Given the description of an element on the screen output the (x, y) to click on. 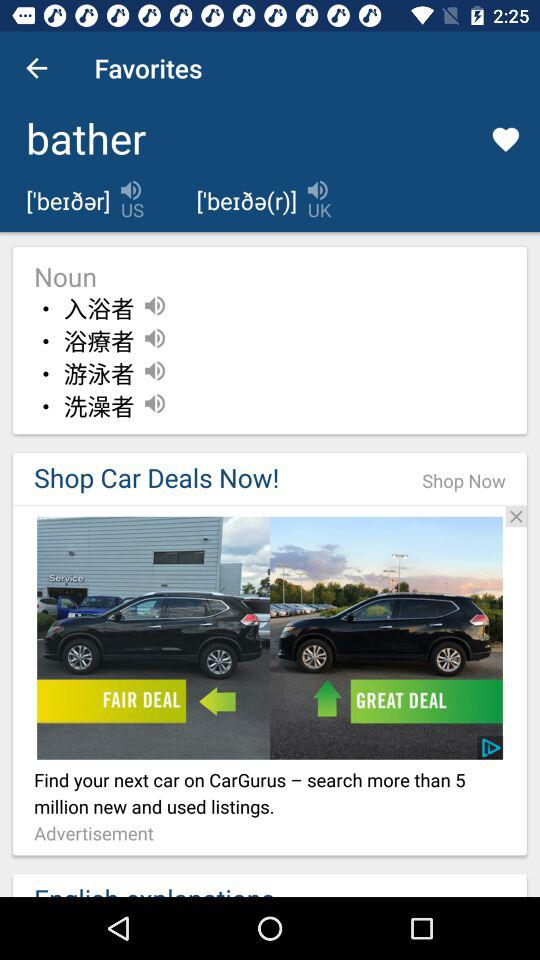
click on the icon to the top right corner of the image (516, 516)
click on the icon to the bottom right corner on the image (491, 748)
select the first volume button from bottom of the page (155, 403)
select the text which is above the text advertisement (269, 796)
click on the third speaker icon (155, 370)
